Given the description of an element on the screen output the (x, y) to click on. 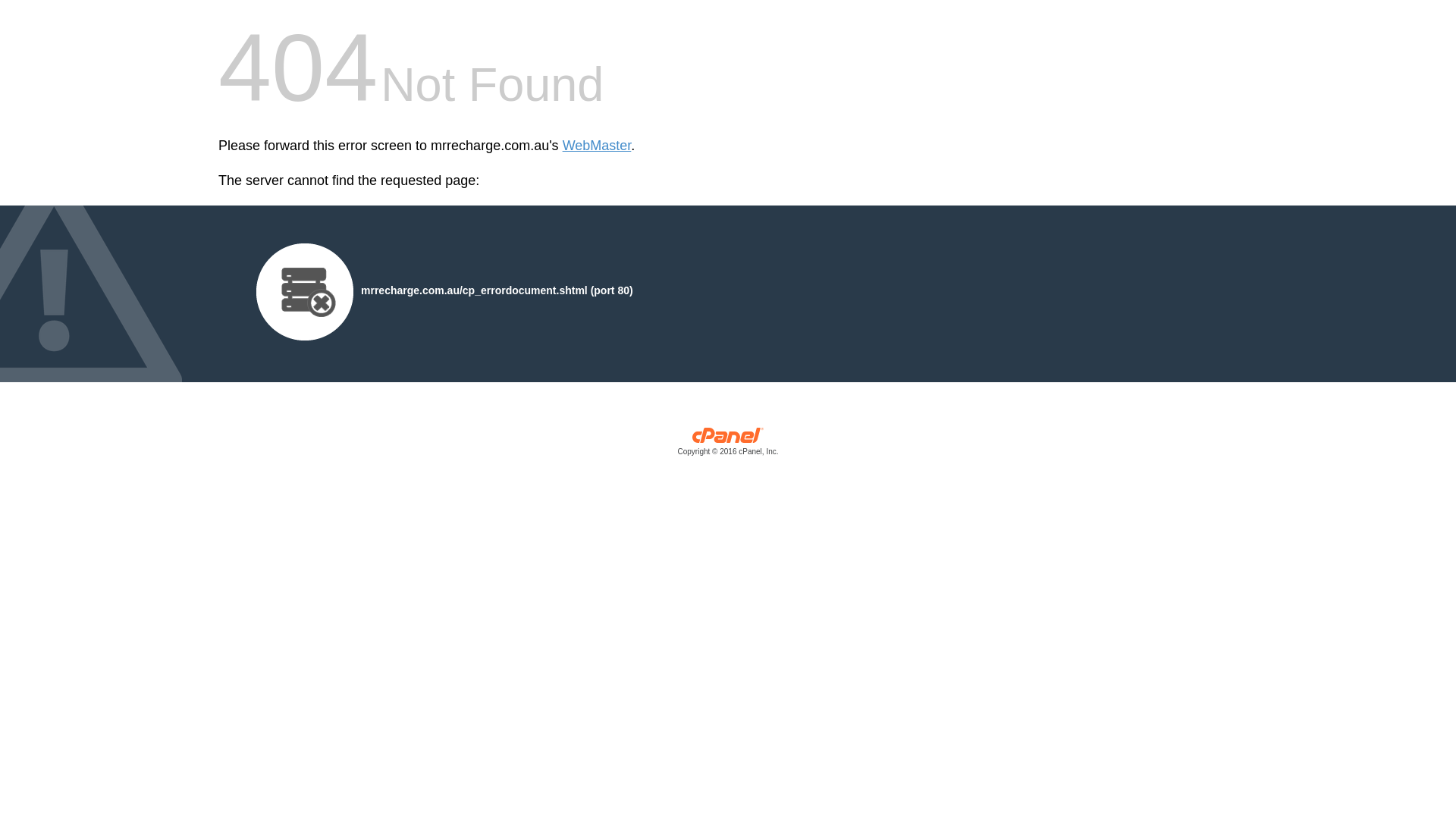
WebMaster Element type: text (596, 145)
